Given the description of an element on the screen output the (x, y) to click on. 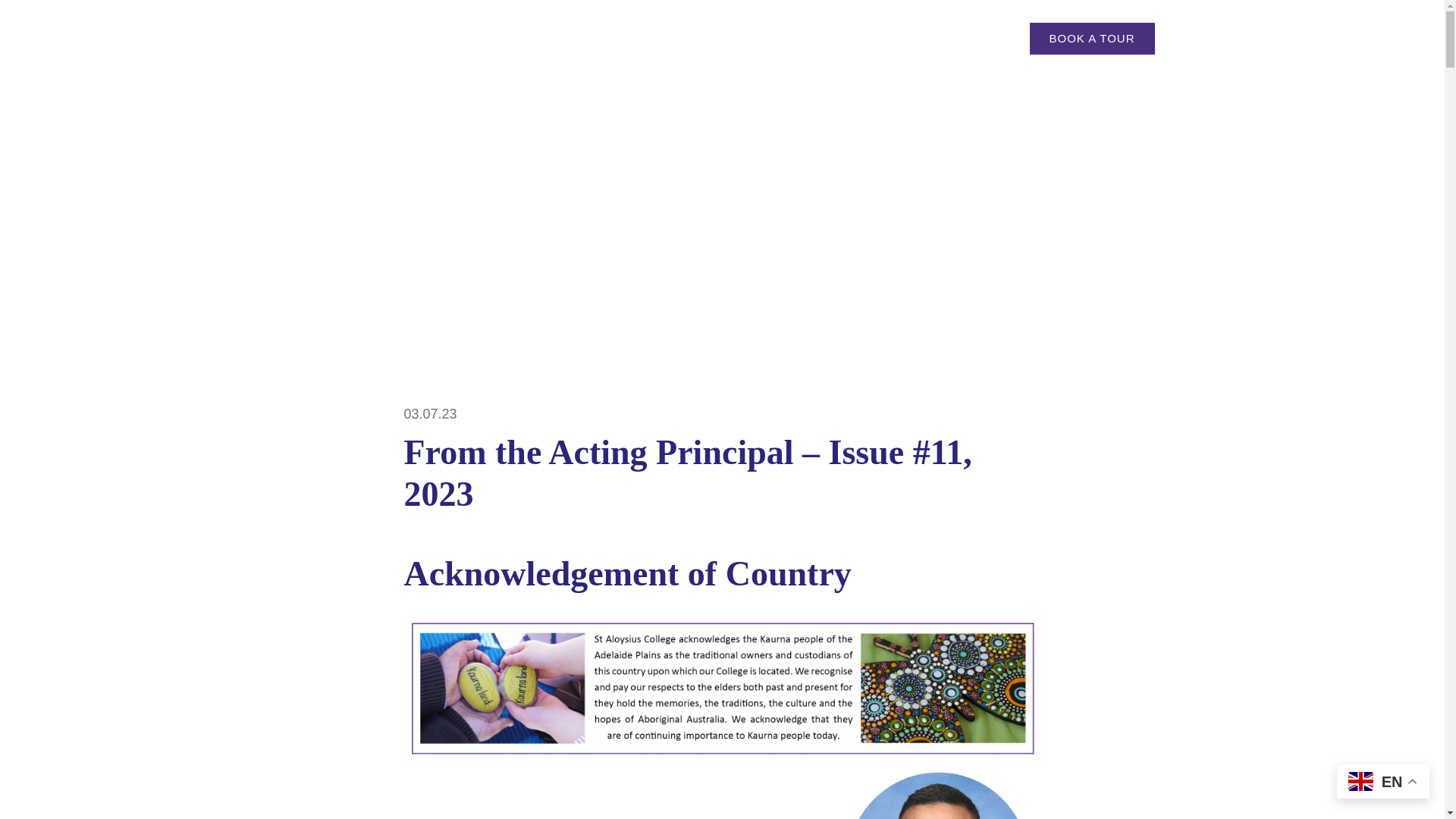
MENU (433, 37)
BOOK A TOUR (1091, 38)
